Given the description of an element on the screen output the (x, y) to click on. 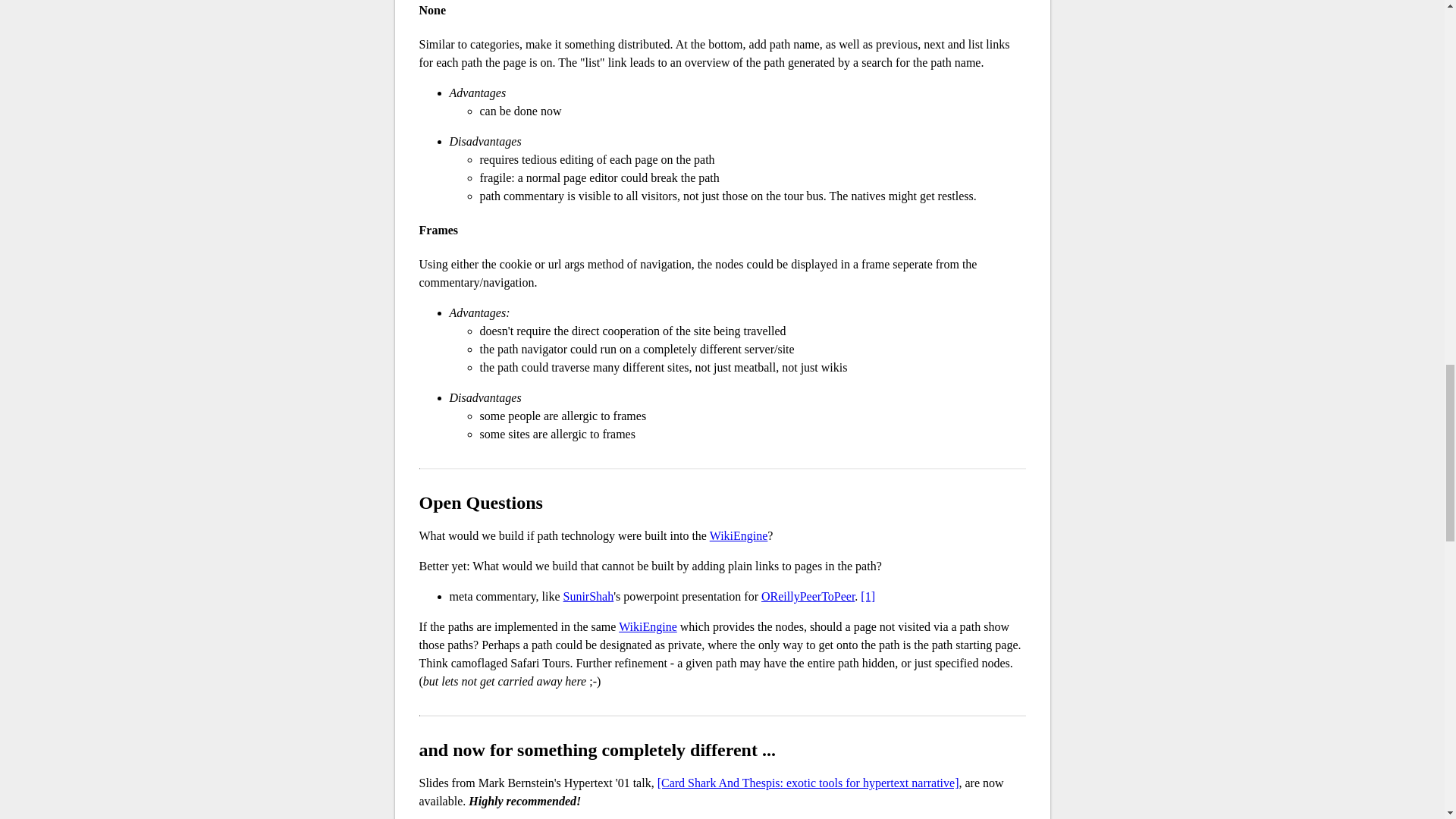
SunirShah (588, 595)
WikiEngine (739, 535)
